Given the description of an element on the screen output the (x, y) to click on. 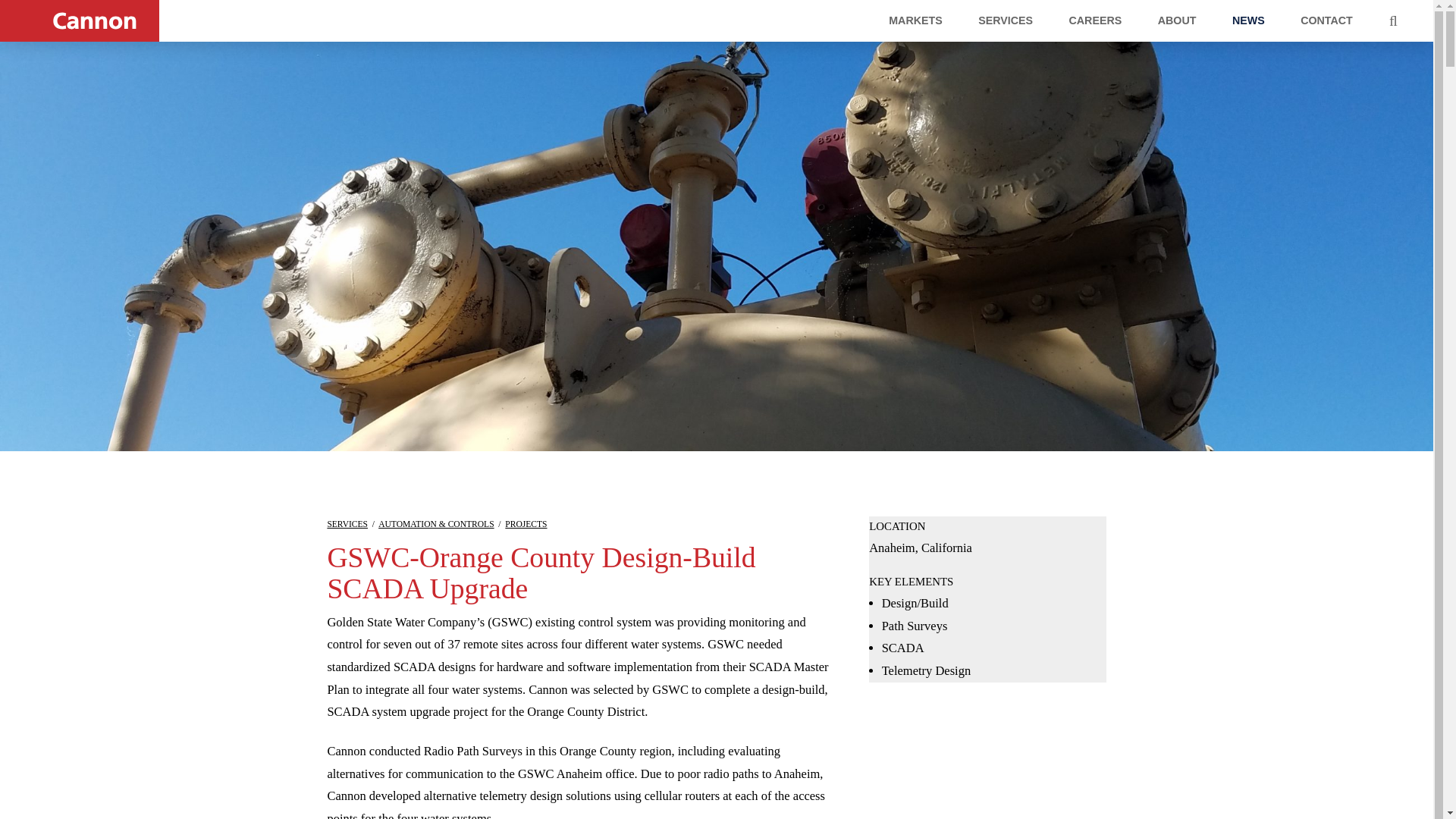
CAREERS (1095, 20)
CONTACT (1326, 20)
PROJECTS (526, 523)
ABOUT (1176, 20)
SERVICES (347, 523)
SERVICES (1005, 20)
NEWS (1248, 20)
MARKETS (915, 20)
